Given the description of an element on the screen output the (x, y) to click on. 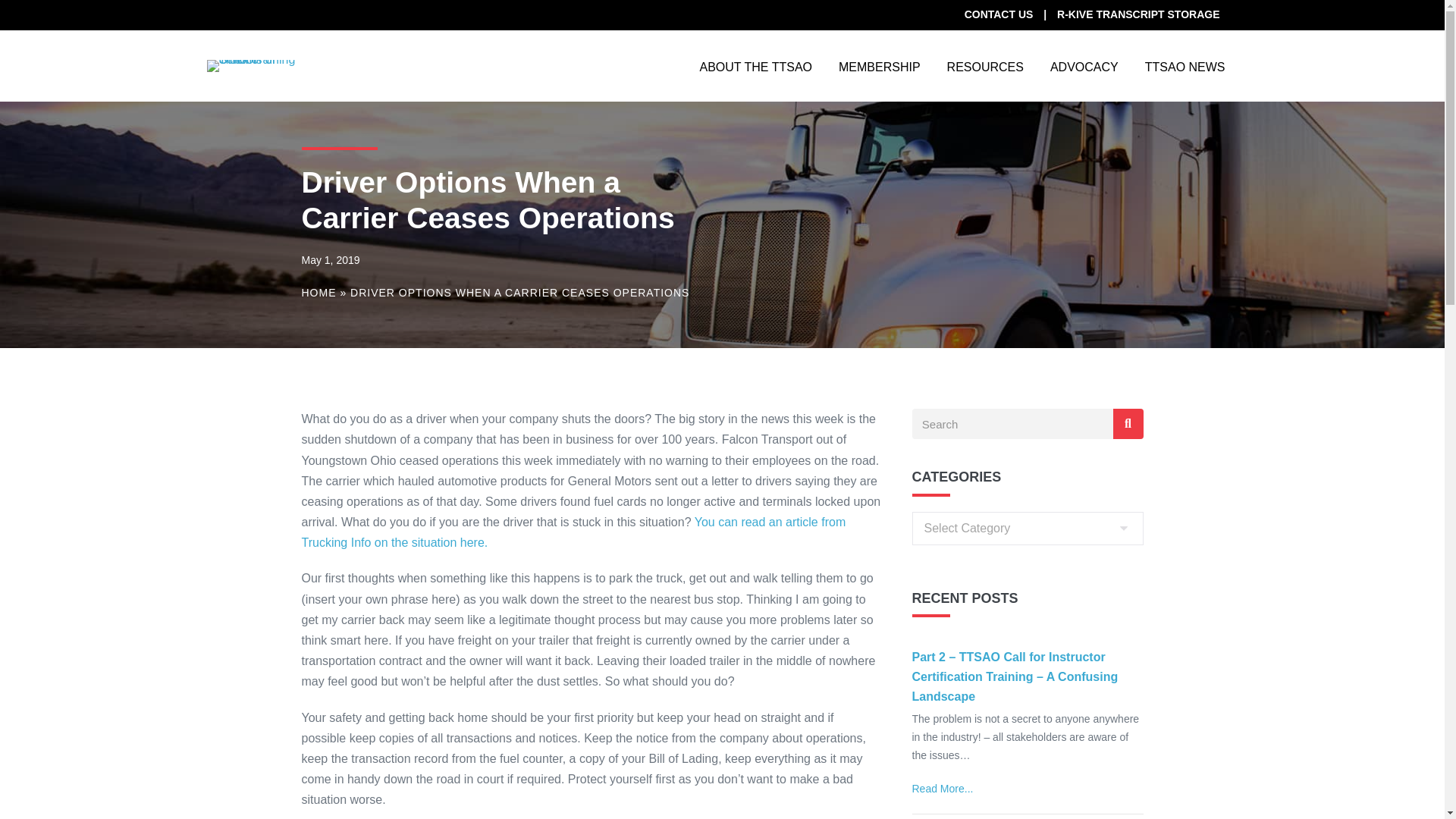
TTSAO Logo (253, 65)
Read More... (941, 788)
MEMBERSHIP (879, 65)
RESOURCES (985, 65)
ABOUT THE TTSAO (756, 65)
Search (1011, 423)
ADVOCACY (1083, 65)
TTSAO NEWS (1184, 65)
Read More... (941, 788)
HOME (318, 292)
R-KIVE TRANSCRIPT STORAGE (1138, 14)
CONTACT US (998, 14)
